Given the description of an element on the screen output the (x, y) to click on. 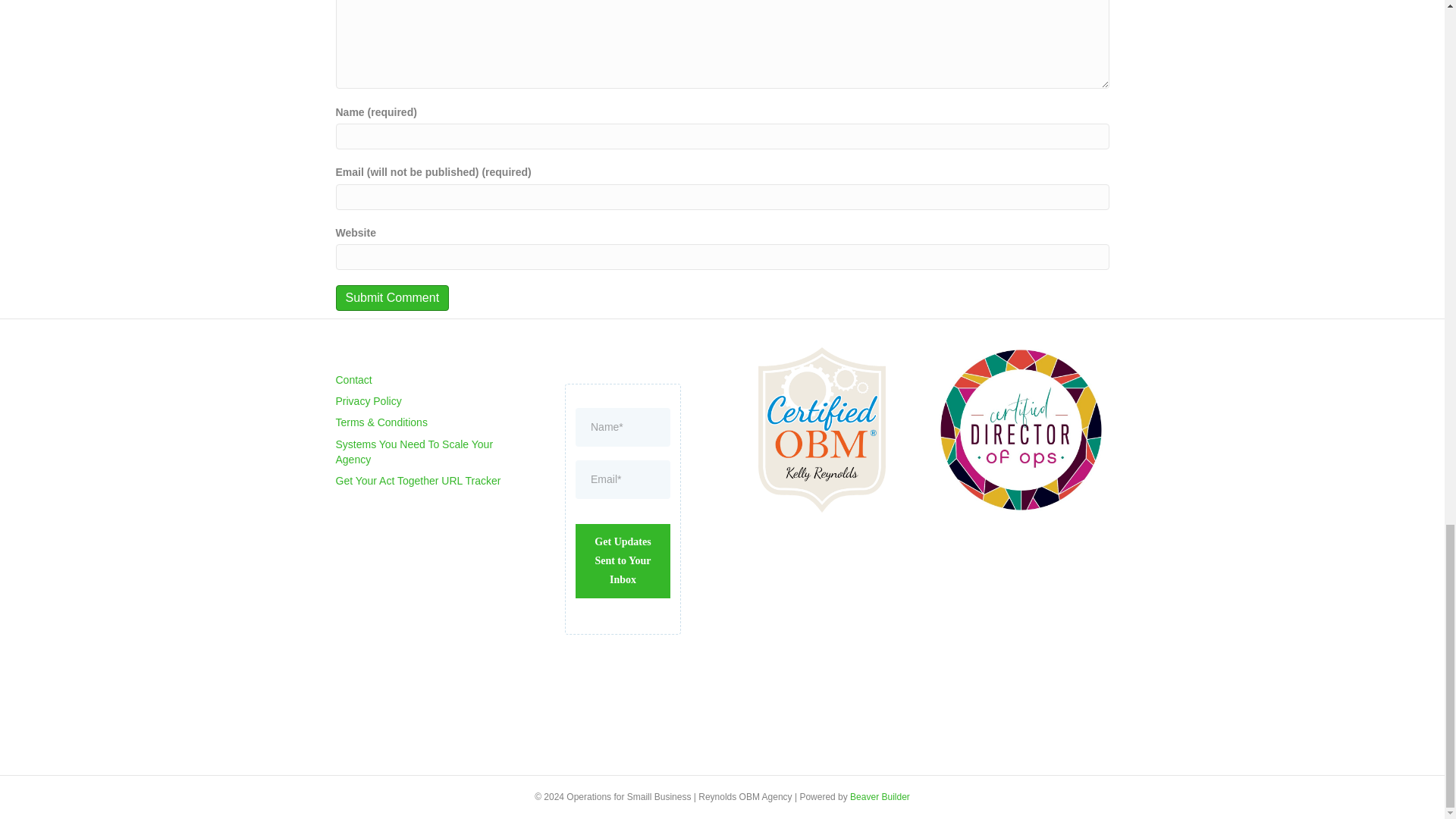
WordPress Page Builder Plugin (880, 796)
Submit Comment (391, 297)
Contact (352, 379)
Privacy Policy (367, 400)
Beaver Builder (880, 796)
Get Your Act Together URL Tracker (417, 480)
Submit Comment (391, 297)
Systems You Need To Scale Your Agency (413, 452)
